Given the description of an element on the screen output the (x, y) to click on. 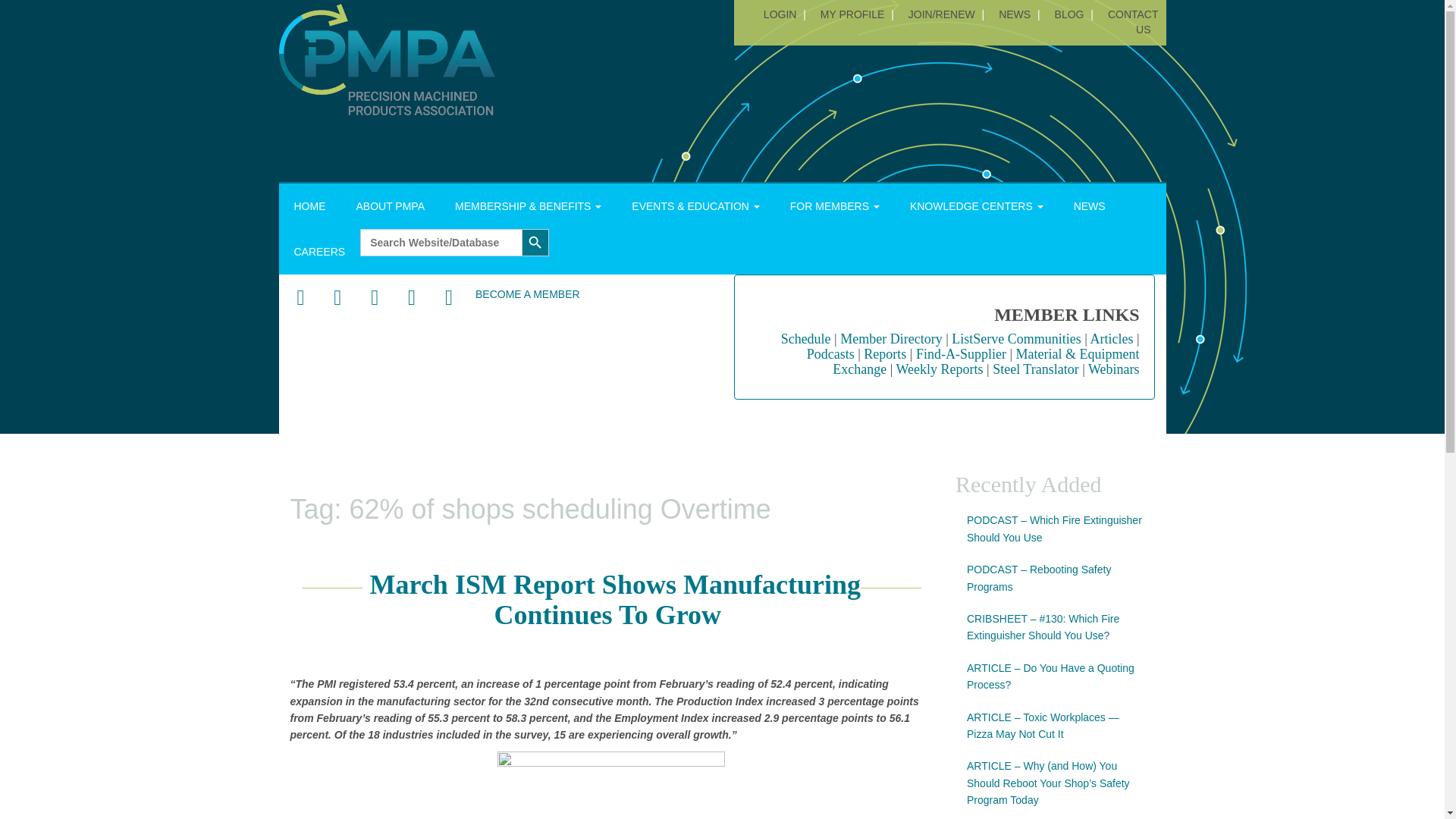
MY PROFILE (852, 14)
BLOG (1069, 14)
Instagram (411, 297)
boxes being shipped (611, 785)
FOR MEMBERS (834, 206)
NEWS (1013, 14)
ABOUT PMPA (390, 206)
HOME (309, 206)
CONTACT US (1130, 22)
LOGIN (780, 14)
